Given the description of an element on the screen output the (x, y) to click on. 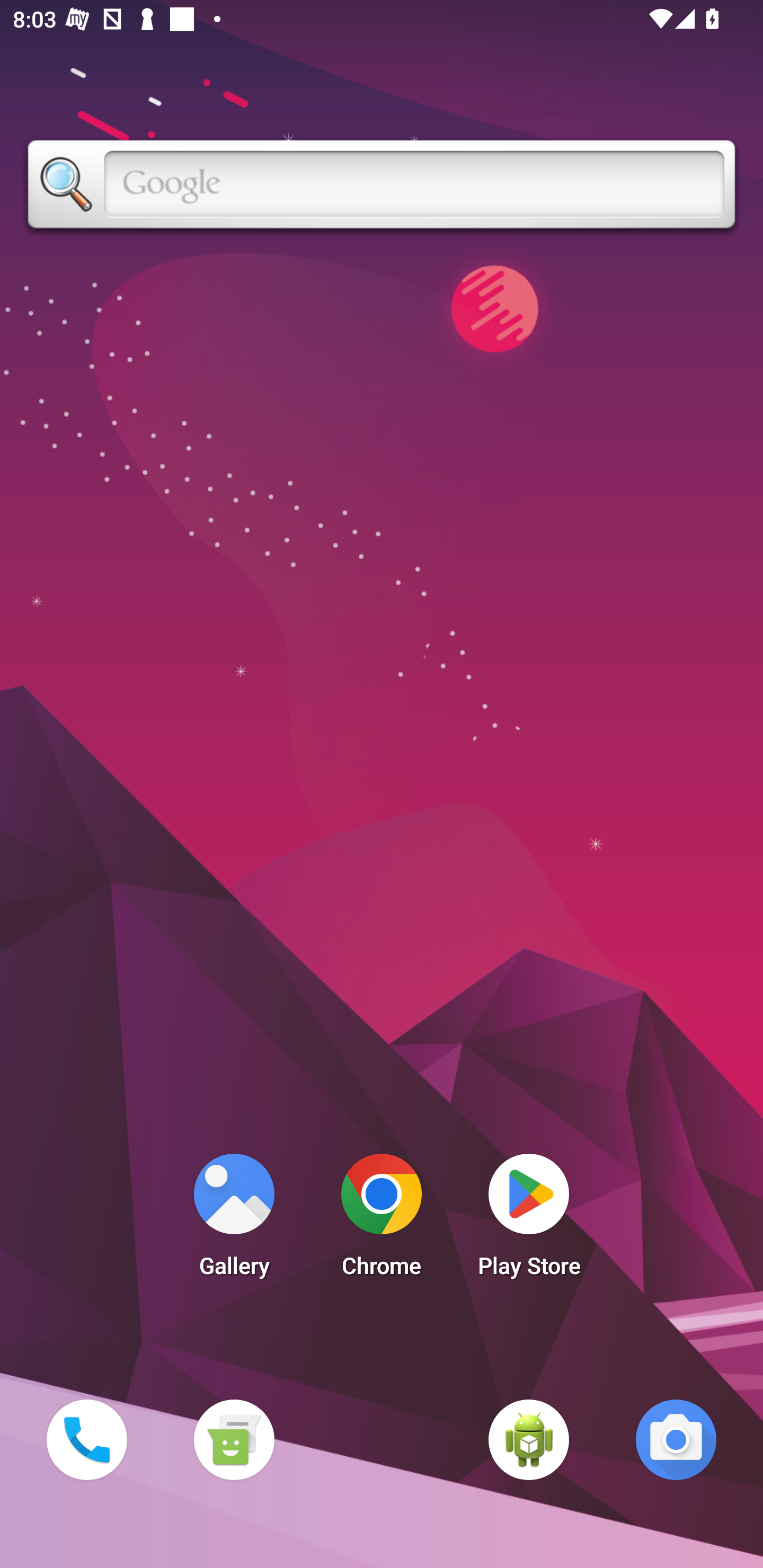
Gallery (233, 1220)
Chrome (381, 1220)
Play Store (528, 1220)
Phone (86, 1439)
Messaging (233, 1439)
WebView Browser Tester (528, 1439)
Camera (676, 1439)
